Given the description of an element on the screen output the (x, y) to click on. 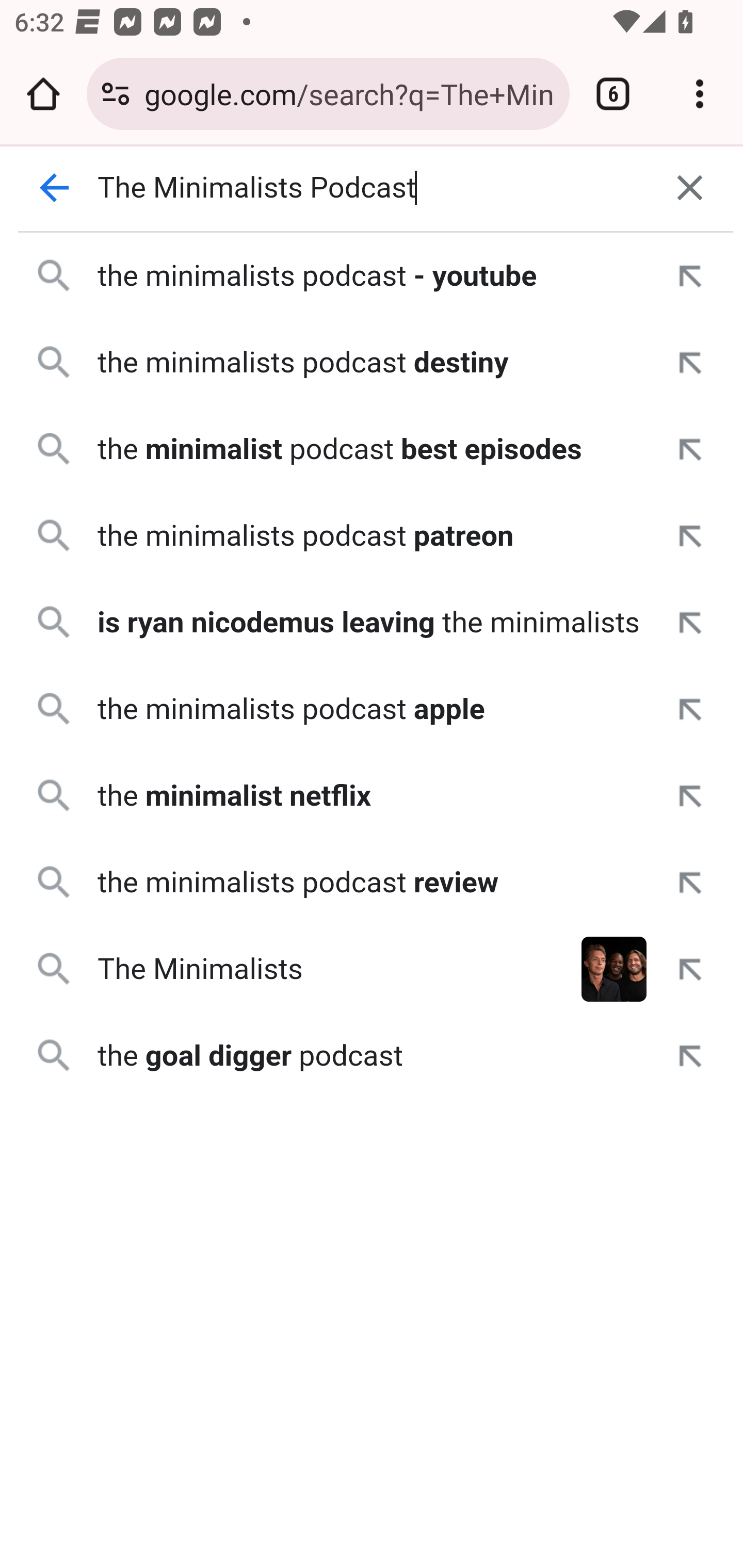
Open the home page (43, 93)
Connection is secure (115, 93)
Switch or close tabs (612, 93)
Customize and control Google Chrome (699, 93)
Back (54, 188)
Clear Search (690, 188)
The Minimalists Podcast (372, 188)
